Given the description of an element on the screen output the (x, y) to click on. 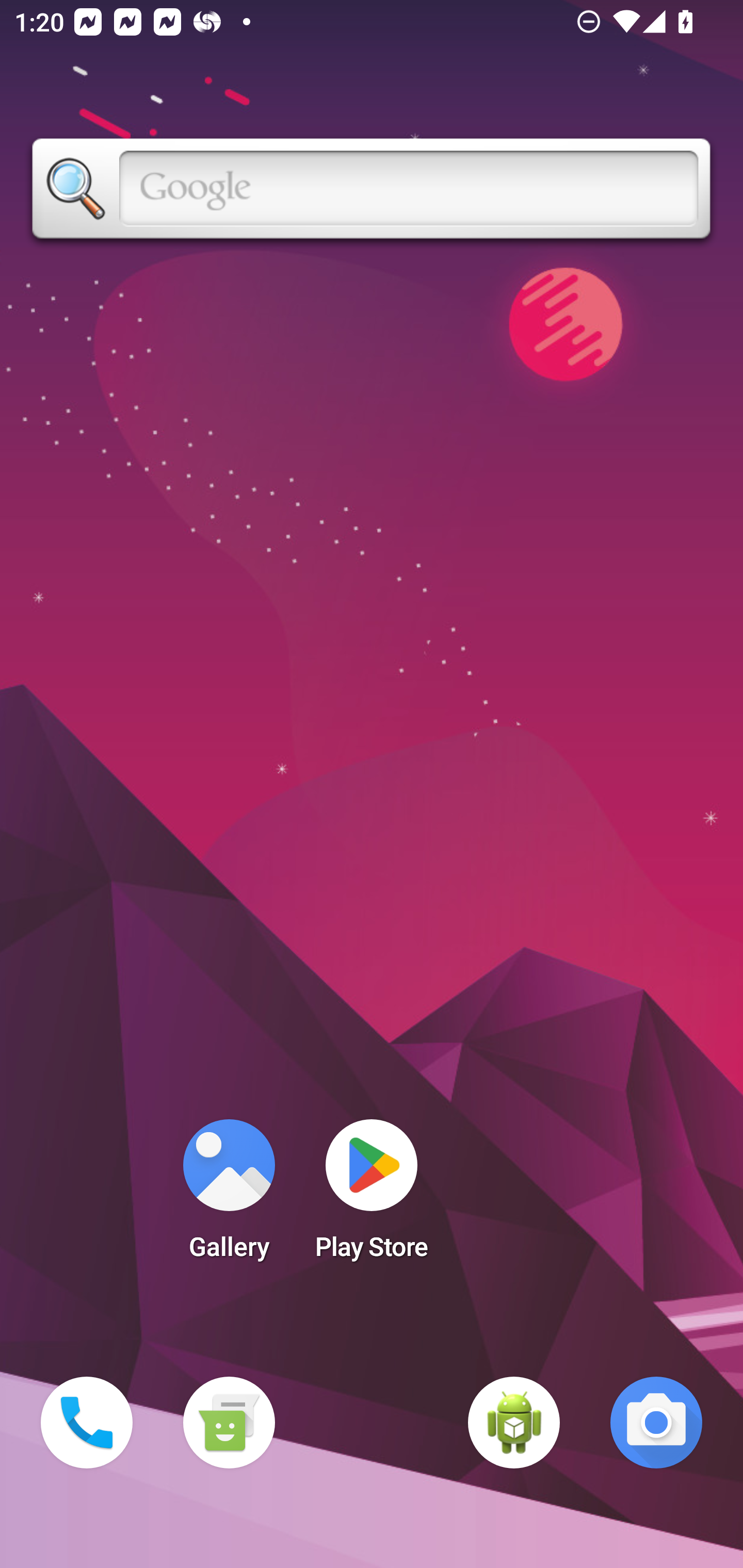
Gallery (228, 1195)
Play Store (371, 1195)
Phone (86, 1422)
Messaging (228, 1422)
WebView Browser Tester (513, 1422)
Camera (656, 1422)
